Given the description of an element on the screen output the (x, y) to click on. 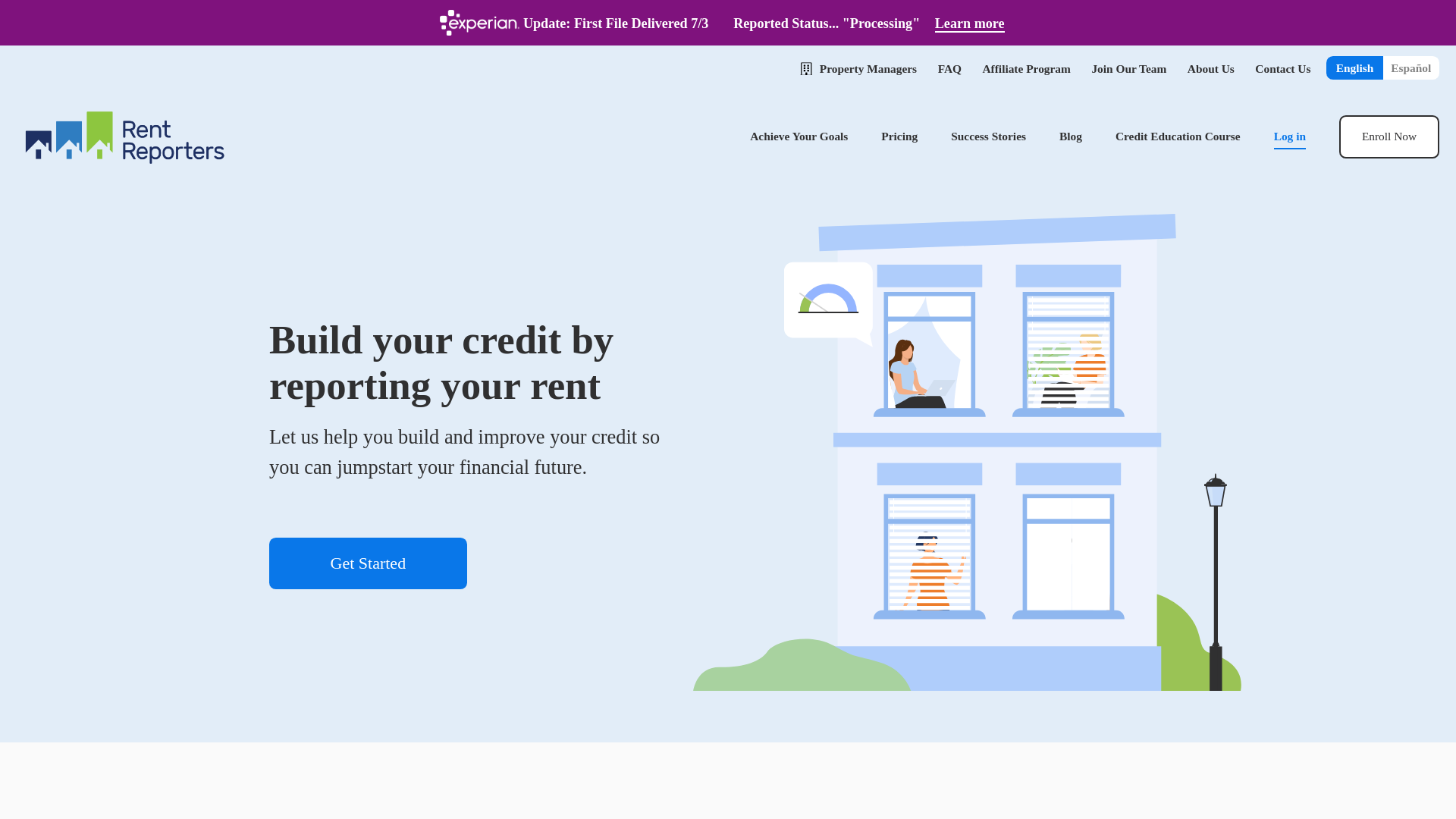
Pricing (898, 135)
Property Managers (868, 68)
Blog (1070, 135)
Get Started (368, 562)
FAQ (948, 68)
Contact Us (1282, 68)
Success Stories (988, 135)
Affiliate Program (1025, 68)
Achieve Your Goals (798, 135)
Home (123, 136)
